Given the description of an element on the screen output the (x, y) to click on. 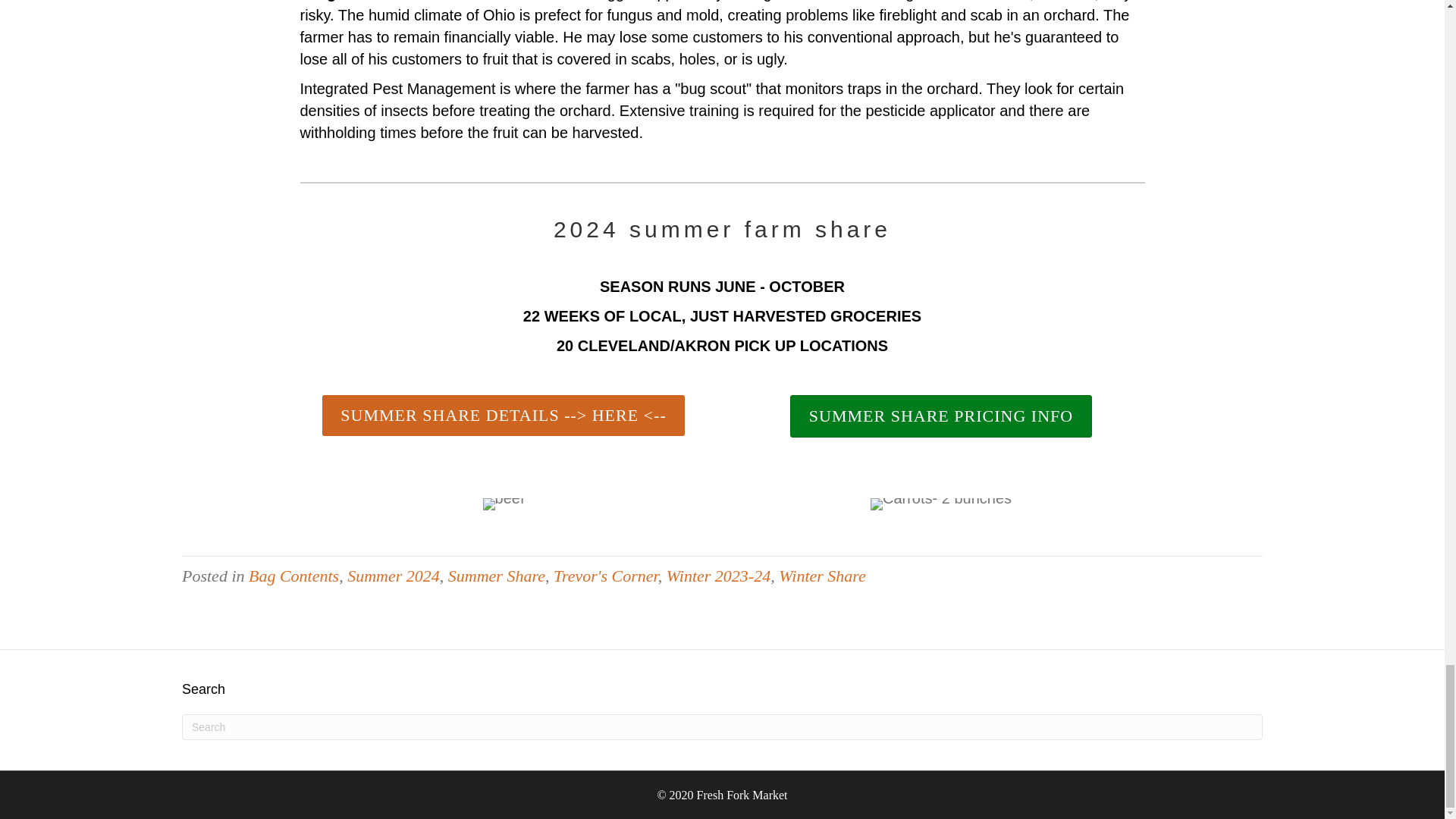
Type and press Enter to search. (722, 727)
beef (503, 503)
2024 summer farm share (722, 229)
